Given the description of an element on the screen output the (x, y) to click on. 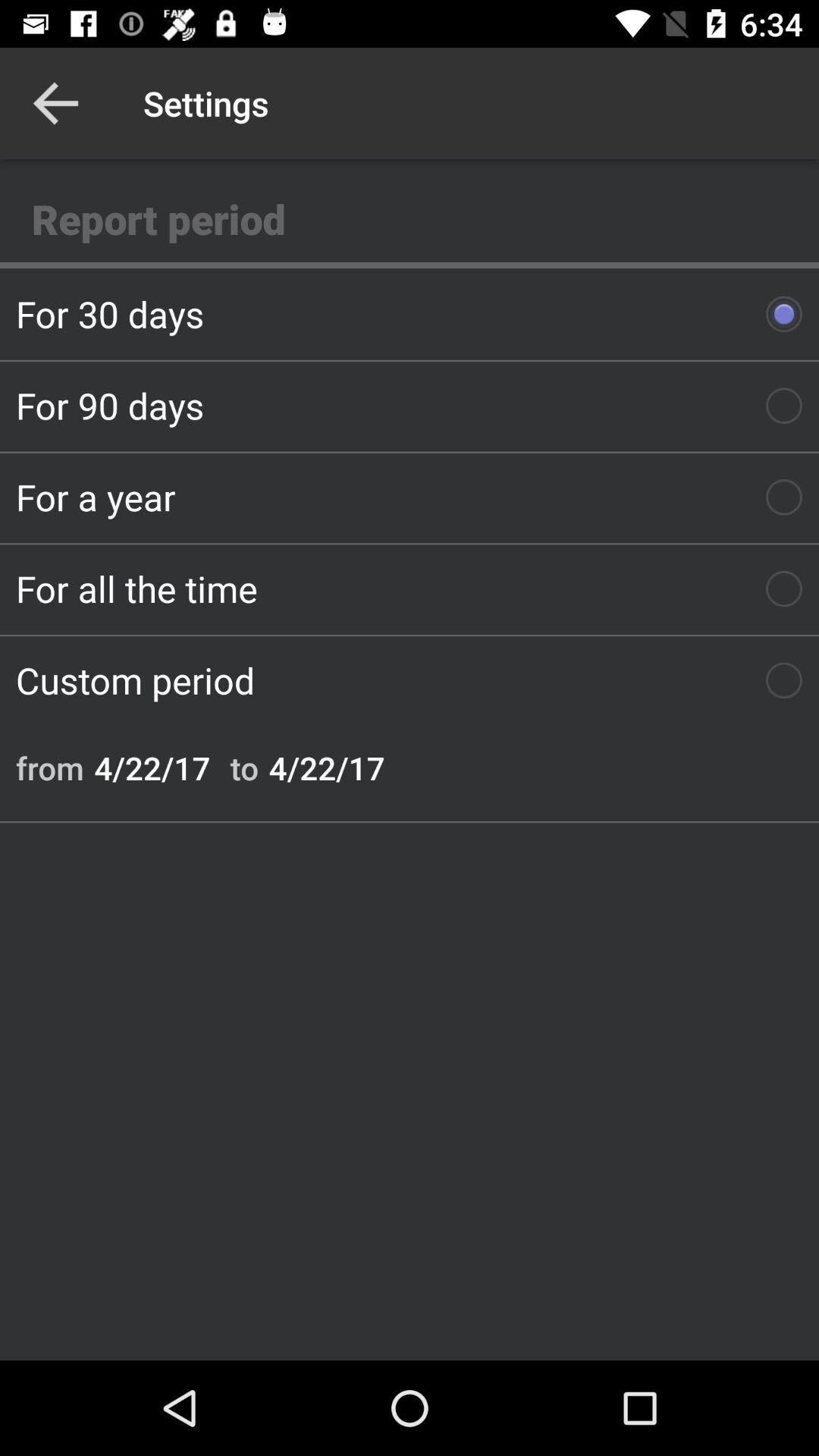
swipe to the for a year item (409, 497)
